Given the description of an element on the screen output the (x, y) to click on. 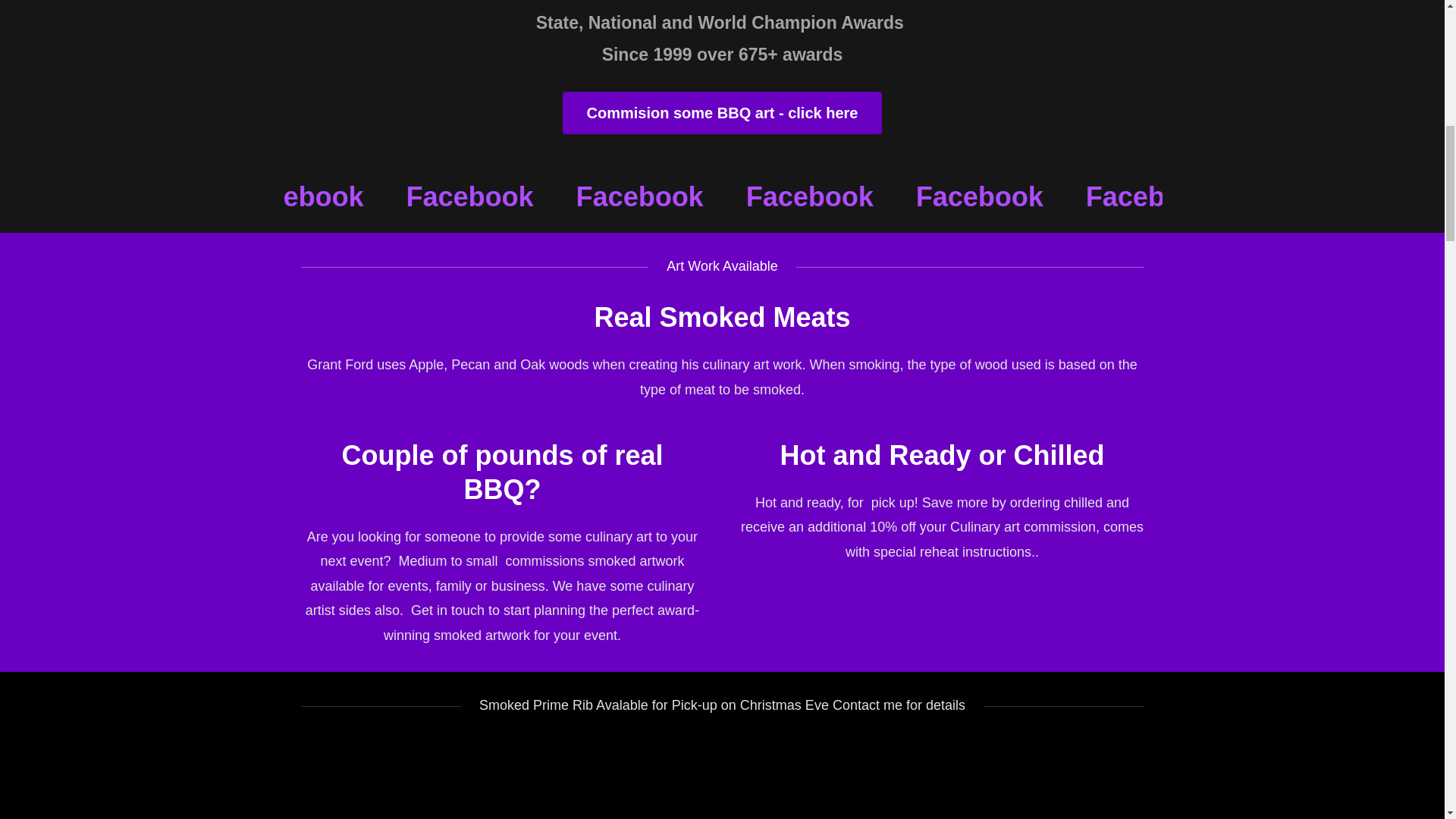
Facebook (345, 196)
Facebook (1193, 196)
Commision some BBQ art - click here (722, 112)
Facebook (853, 196)
Accept (1274, 324)
Facebook (514, 196)
Facebook (684, 196)
Facebook (1023, 196)
